Given the description of an element on the screen output the (x, y) to click on. 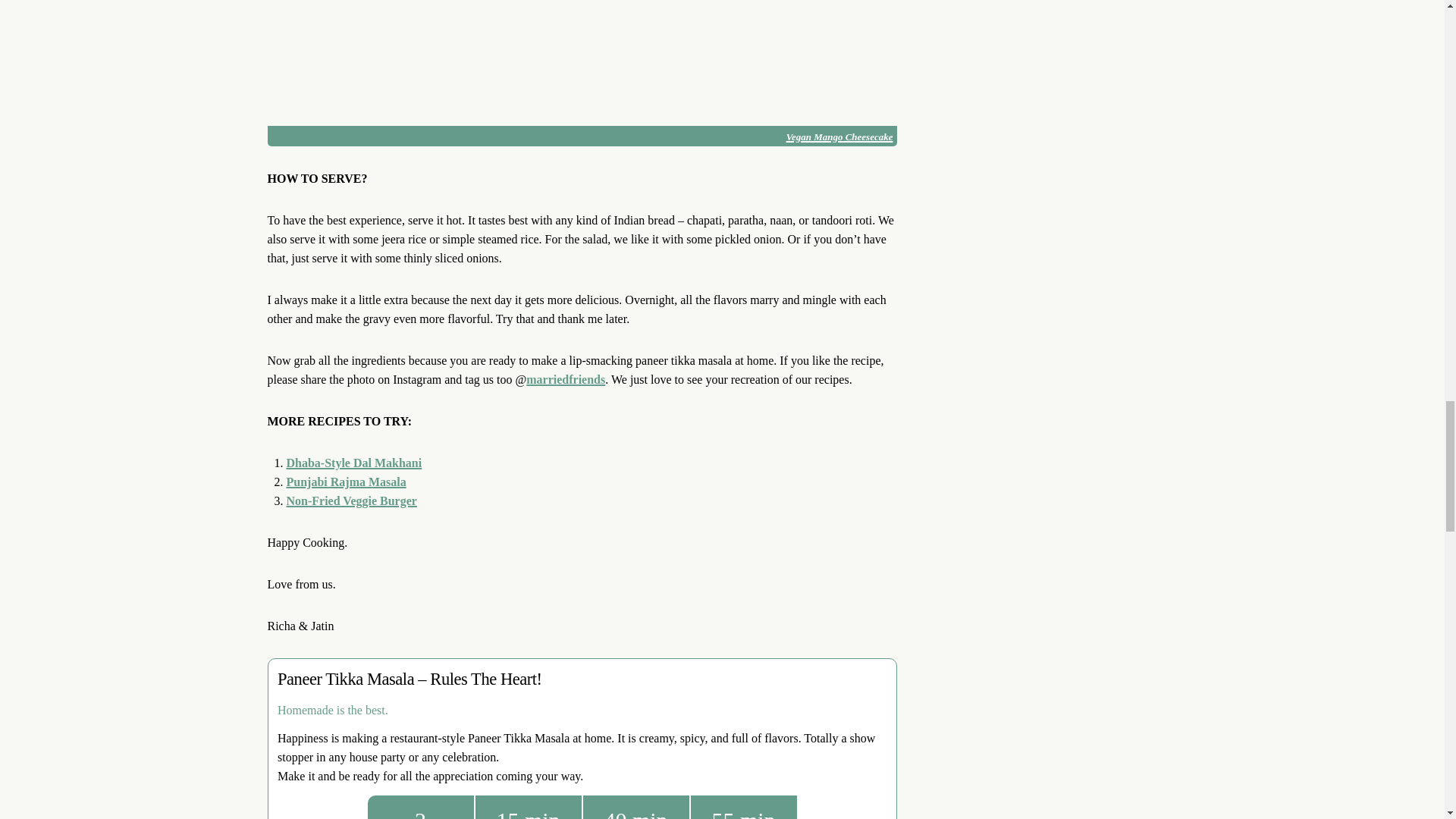
Non-Fried Veggie Burger (351, 500)
marriedfriends (565, 379)
Punjabi Rajma Masala (346, 481)
Dhaba-Style Dal Makhani (354, 462)
Vegan Mango Cheesecake (839, 136)
